Given the description of an element on the screen output the (x, y) to click on. 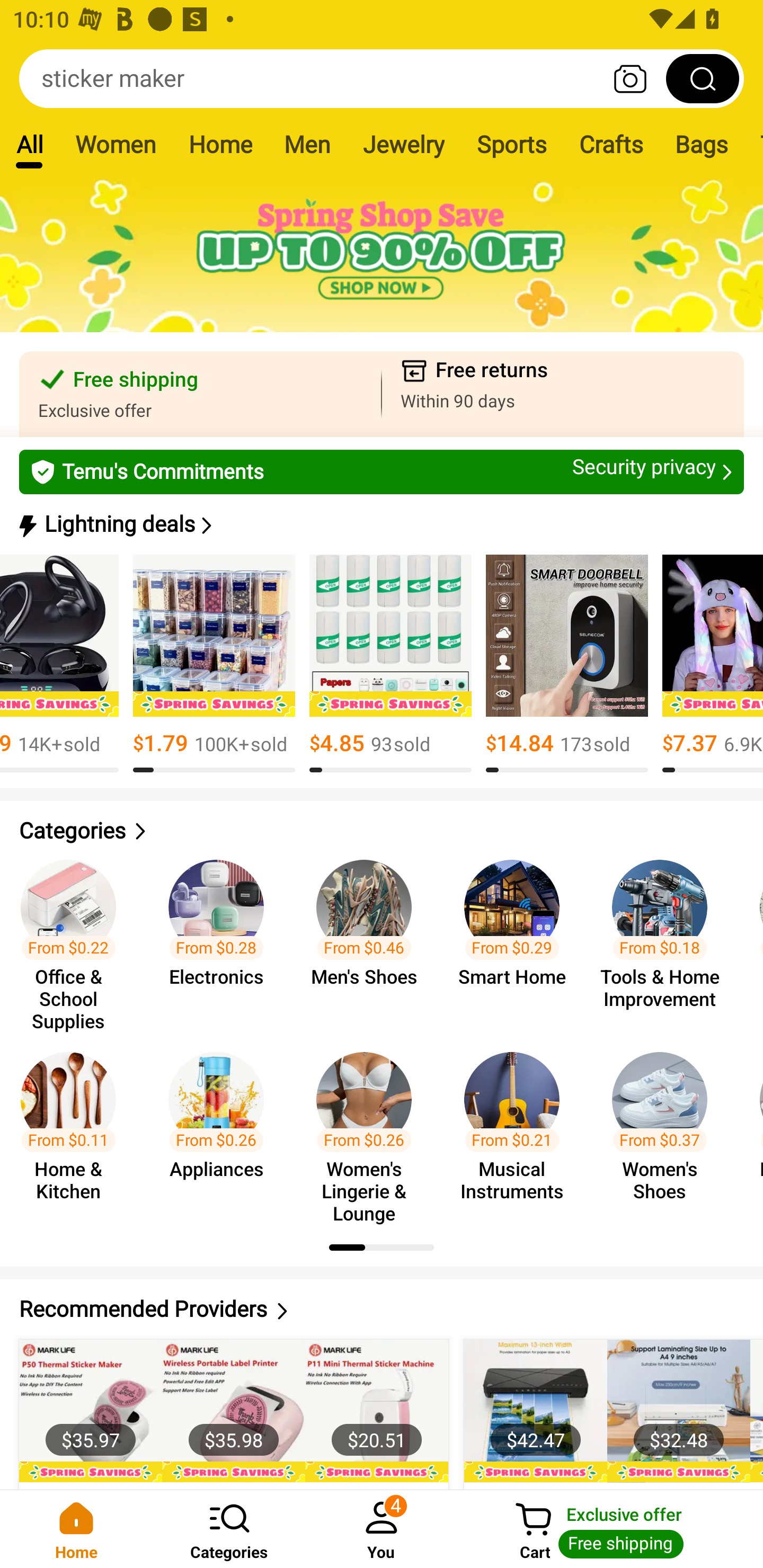
sticker maker (381, 78)
All (29, 144)
Women (115, 144)
Home (219, 144)
Men (306, 144)
Jewelry (403, 144)
Sports (511, 144)
Crafts (611, 144)
Bags (701, 144)
Free shipping Exclusive offer (200, 394)
Free returns Within 90 days (562, 394)
Temu's Commitments (381, 471)
Lightning deals (379, 524)
$8.99 14K+￼sold 8.0 (59, 664)
$1.79 100K+￼sold 13.0 (213, 664)
$4.85 93￼sold 8.0 (390, 664)
$14.84 173￼sold 8.0 (566, 664)
$7.37 6.9K+￼sold 8.0 (712, 664)
Categories (381, 830)
From $0.22 Office & School Supplies (74, 936)
From $0.28 Electronics (222, 936)
From $0.46 Men's Shoes (369, 936)
From $0.29 Smart Home (517, 936)
From $0.18 Tools & Home Improvement (665, 936)
From $0.11 Home & Kitchen (74, 1128)
From $0.26 Appliances (222, 1128)
From $0.26 Women's Lingerie & Lounge (369, 1128)
From $0.21 Musical Instruments (517, 1128)
From $0.37 Women's Shoes (665, 1128)
Recommended Providers (381, 1309)
Home (76, 1528)
Categories (228, 1528)
You 4 You (381, 1528)
Cart Cart Exclusive offer (610, 1528)
